Given the description of an element on the screen output the (x, y) to click on. 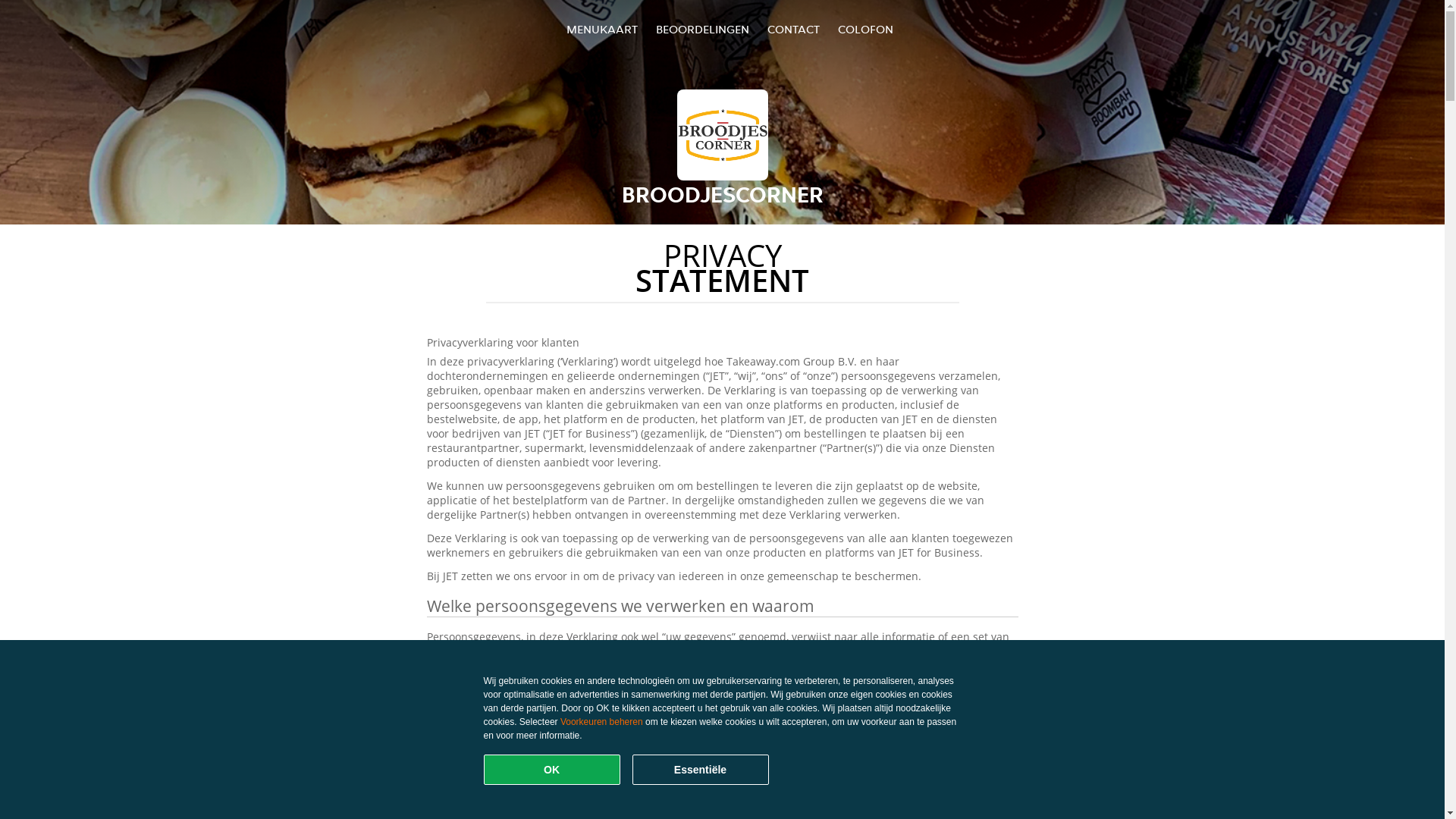
BEOORDELINGEN Element type: text (702, 29)
COLOFON Element type: text (865, 29)
Voorkeuren beheren Element type: text (601, 721)
CONTACT Element type: text (793, 29)
OK Element type: text (551, 769)
MENUKAART Element type: text (601, 29)
